Given the description of an element on the screen output the (x, y) to click on. 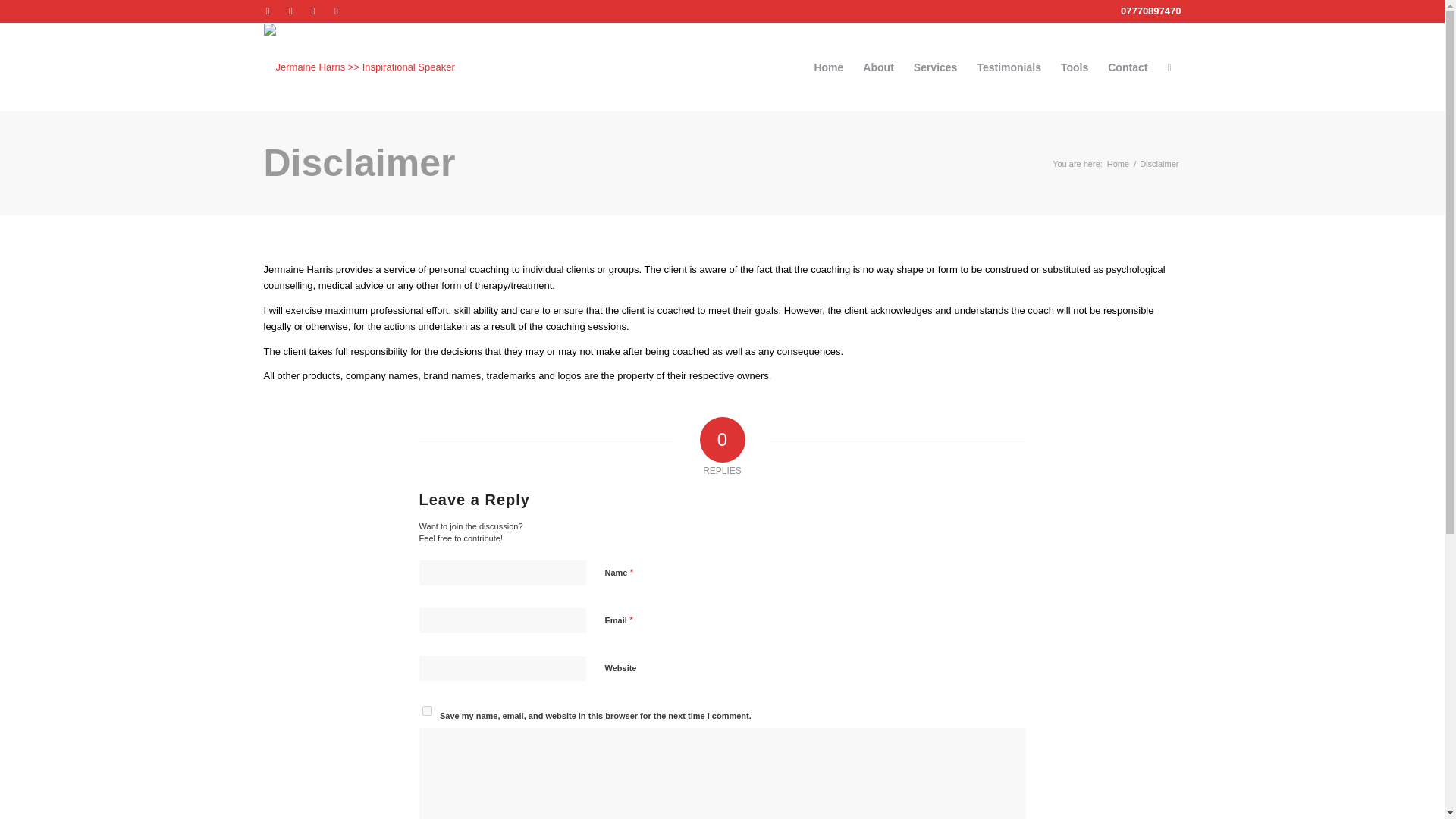
Home (1118, 163)
yes (426, 710)
LinkedIn (335, 11)
Untitled-1 (358, 54)
Facebook (267, 11)
Permanent Link: Disclaimer (359, 162)
Twitter (290, 11)
Youtube (312, 11)
Testimonials (1008, 67)
Disclaimer (359, 162)
